Given the description of an element on the screen output the (x, y) to click on. 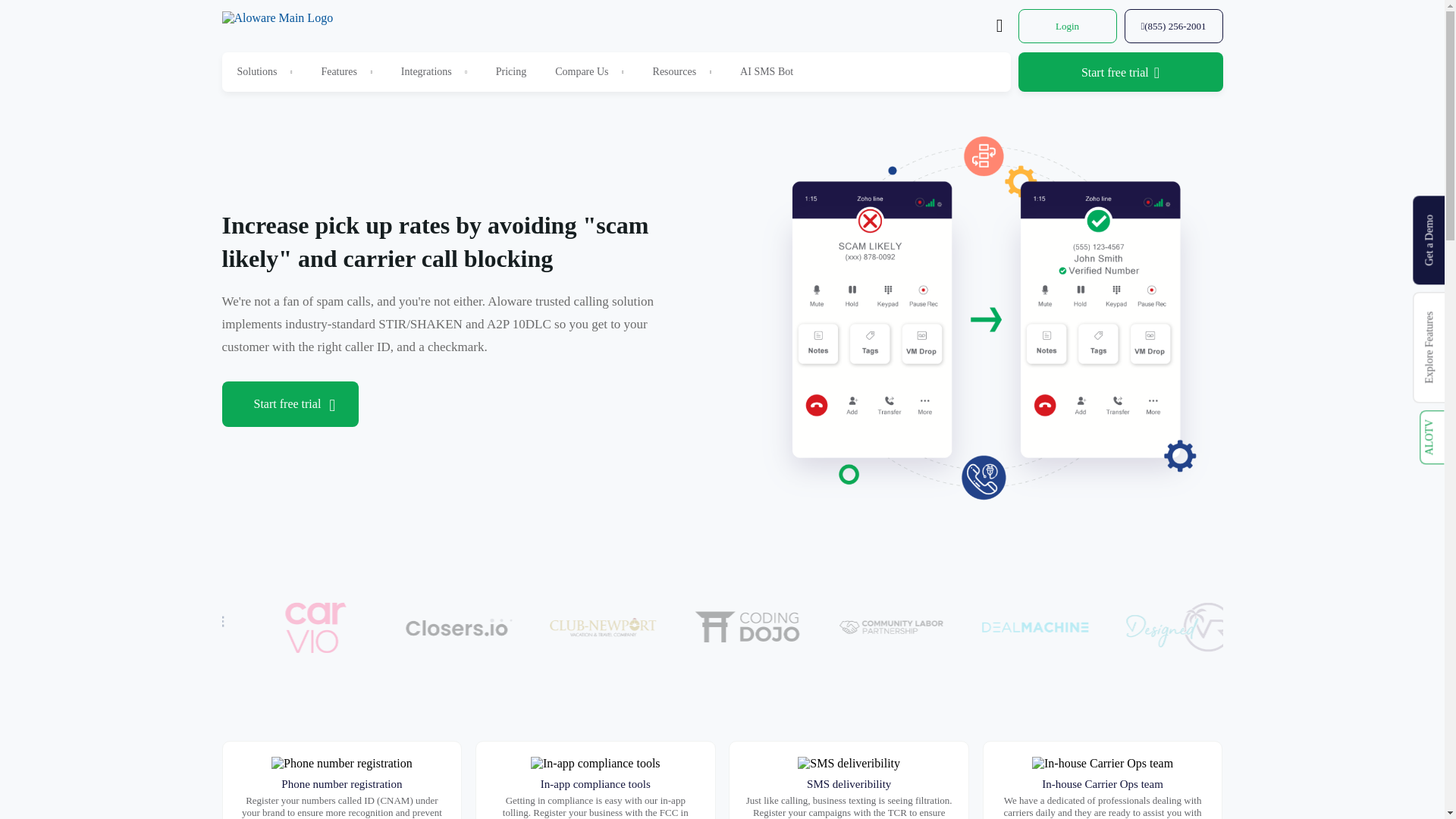
Resources (674, 71)
Login (1066, 26)
Integrations (426, 71)
Features (338, 71)
Solutions (255, 71)
Compare Us (581, 71)
